Given the description of an element on the screen output the (x, y) to click on. 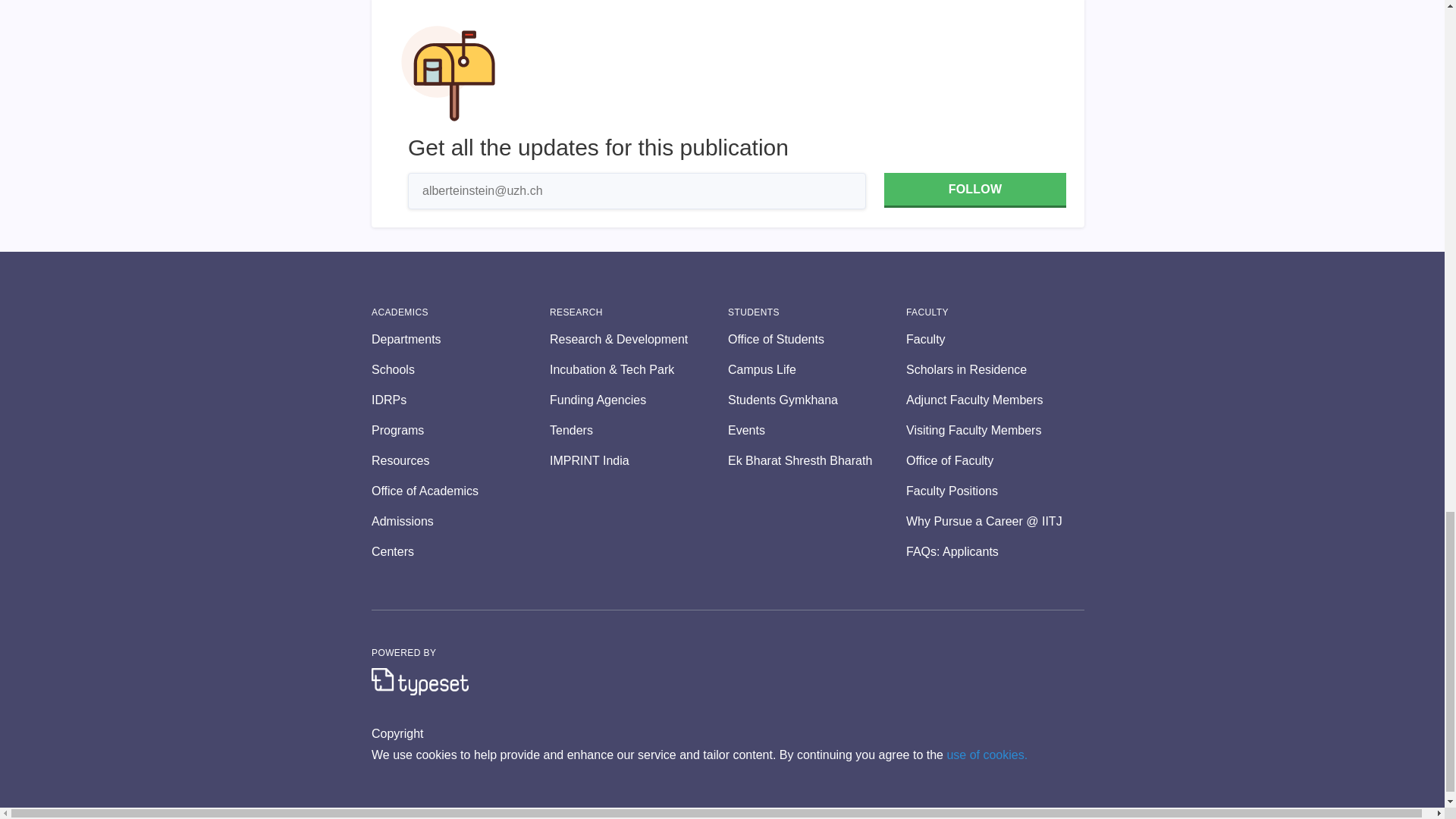
Tenders (639, 430)
Office of Academics (460, 491)
Schools (460, 370)
Admissions (460, 521)
Centers (460, 551)
Funding Agencies (639, 400)
Logo of Typeset (419, 681)
Departments (460, 339)
IMPRINT India (639, 461)
Subscribe form hero illustration (448, 73)
